Given the description of an element on the screen output the (x, y) to click on. 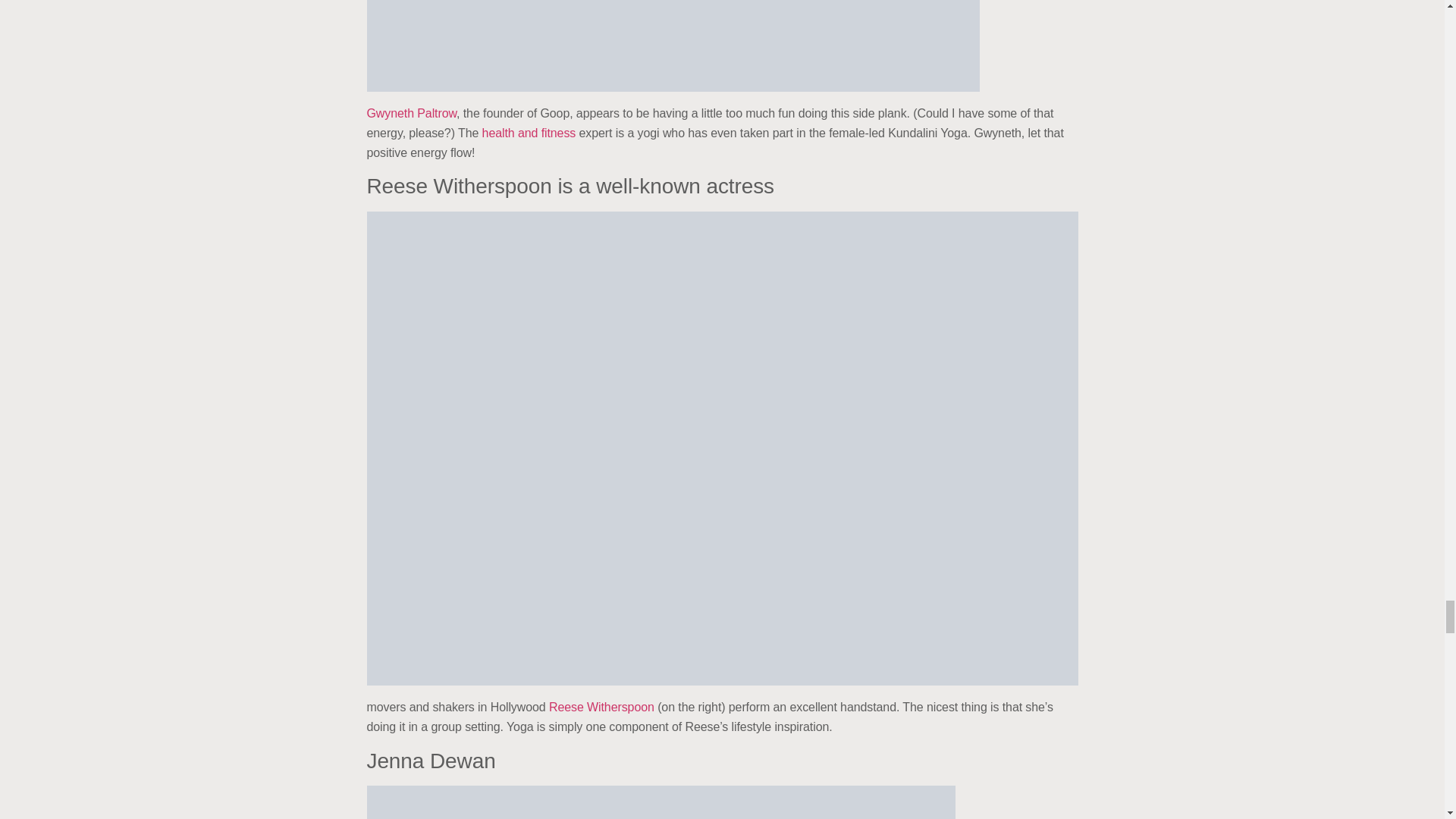
Reese Witherspoon (600, 707)
Gwyneth Paltrow (411, 113)
health and fitness (528, 132)
